Given the description of an element on the screen output the (x, y) to click on. 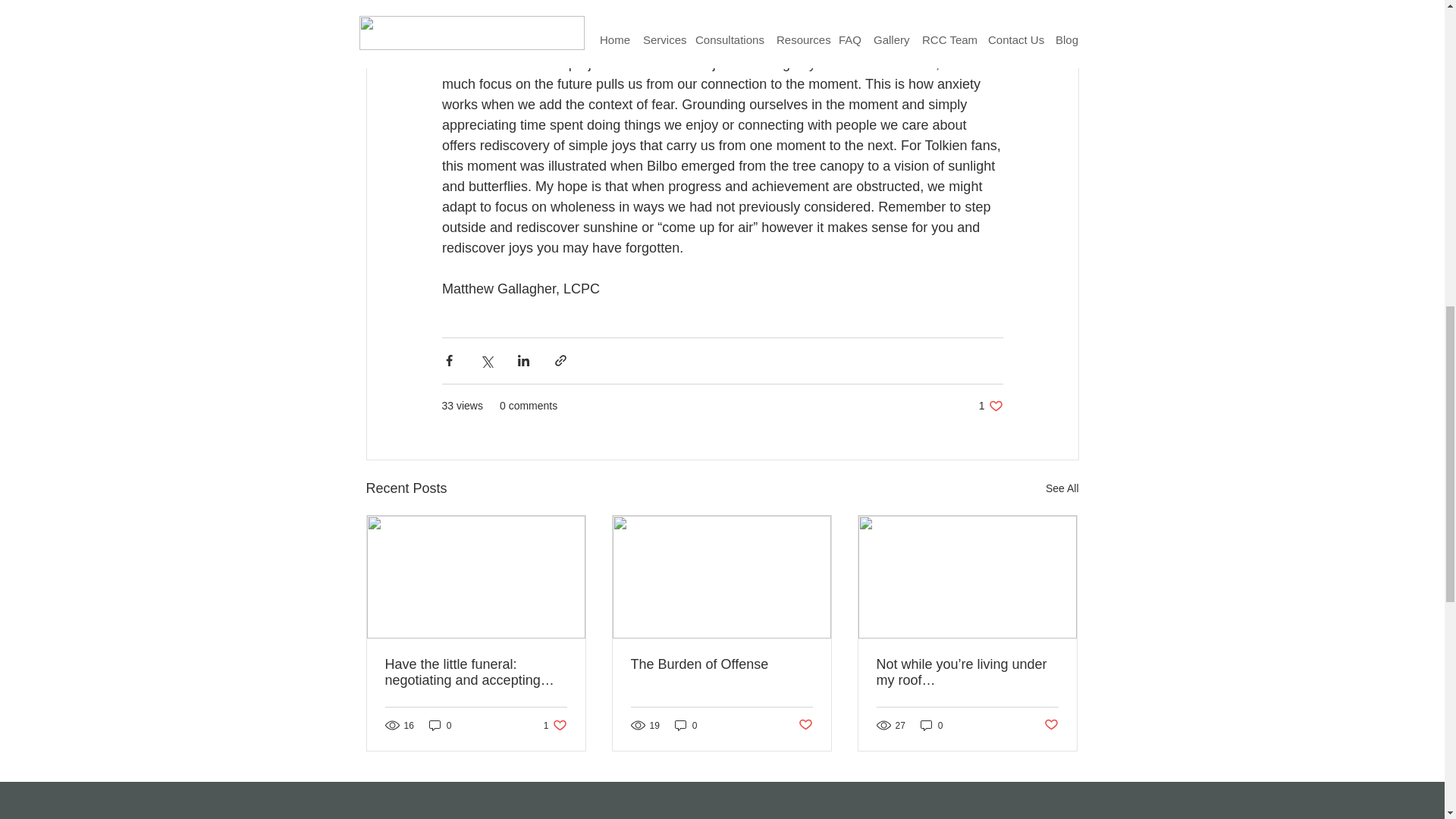
0 (555, 725)
The Burden of Offense (440, 725)
0 (990, 405)
Have the little funeral: negotiating and accepting loss (721, 664)
0 (685, 725)
Post not marked as liked (476, 672)
Post not marked as liked (931, 725)
See All (804, 725)
